Given the description of an element on the screen output the (x, y) to click on. 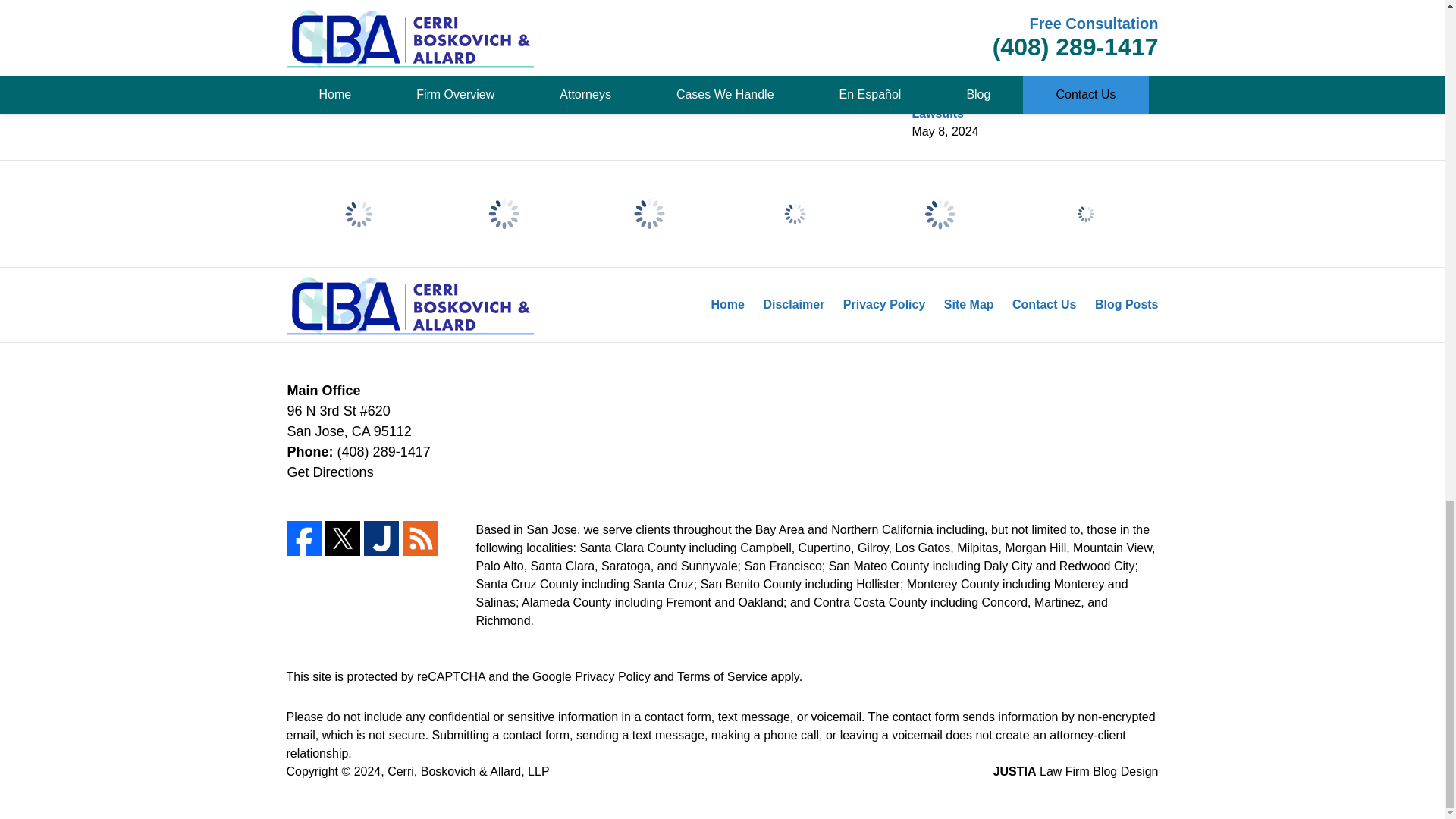
Facebook (303, 538)
Twitter (341, 538)
Justia (381, 538)
Feed (420, 538)
